Given the description of an element on the screen output the (x, y) to click on. 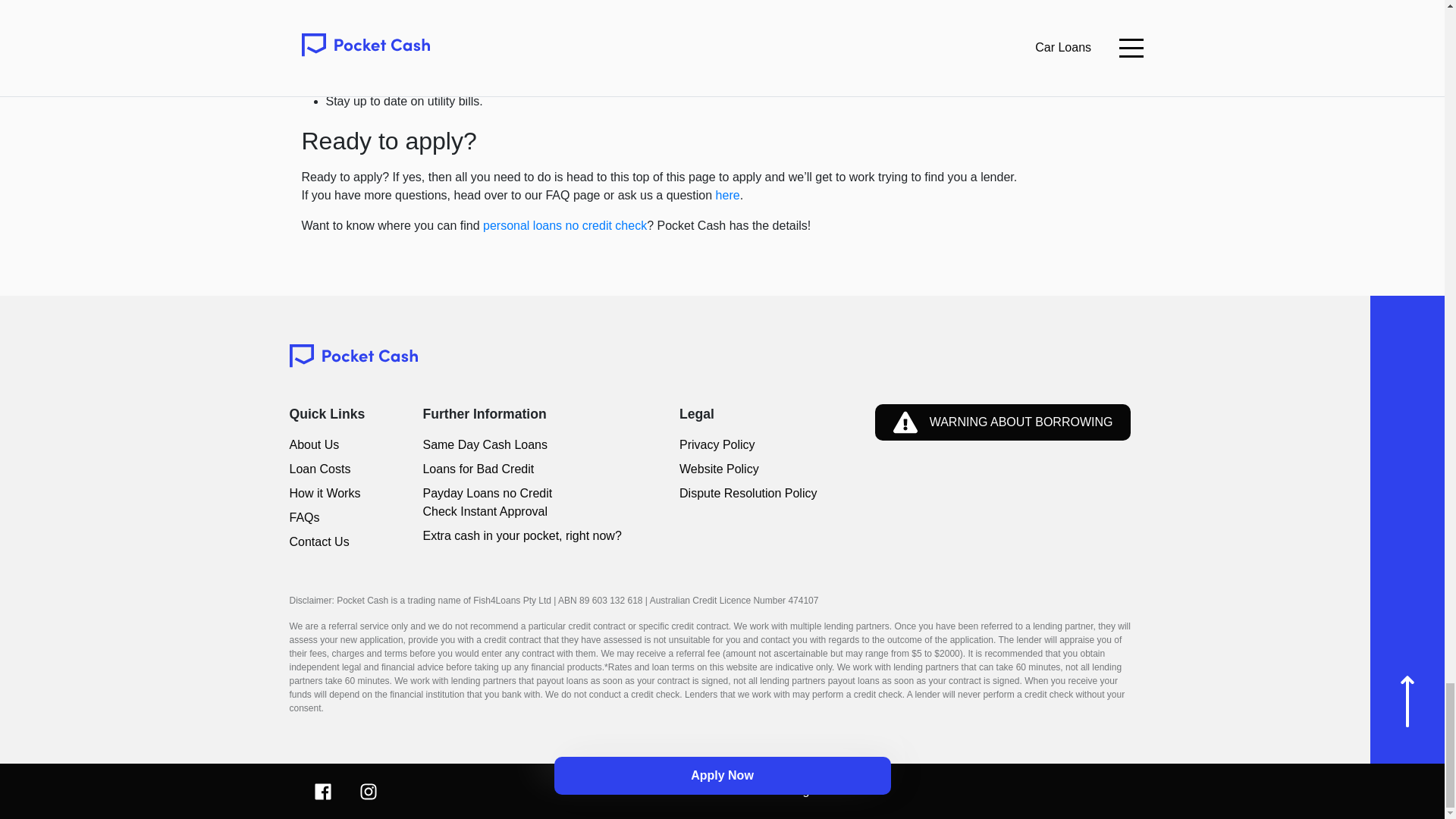
How it Works (327, 493)
personal loans no credit check (564, 225)
here (727, 195)
Loan Costs (327, 469)
About Us (327, 444)
